Given the description of an element on the screen output the (x, y) to click on. 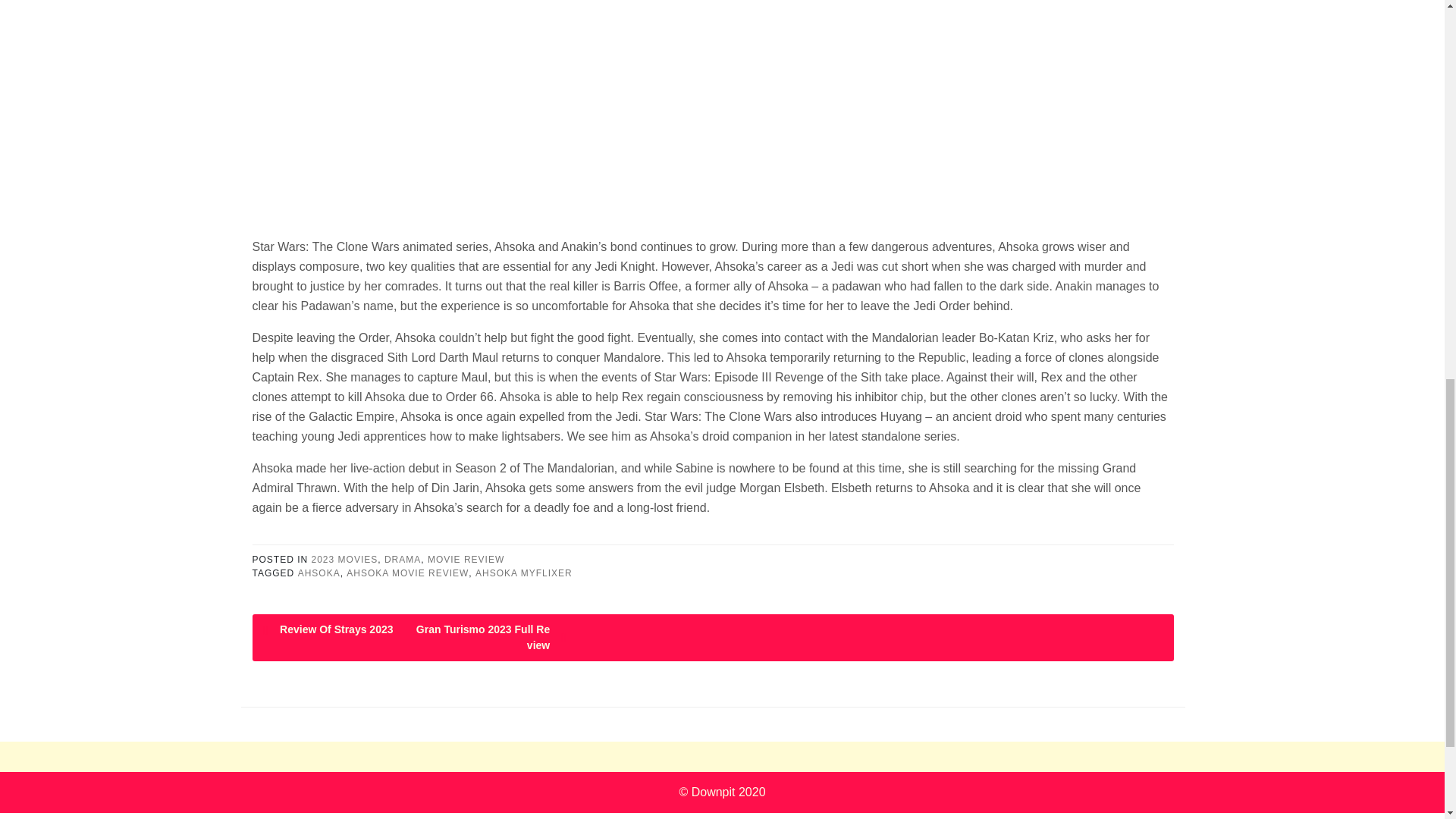
AHSOKA (319, 573)
Gran Turismo 2023 Full Review (490, 637)
2023 MOVIES (344, 559)
MOVIE REVIEW (465, 559)
DRAMA (402, 559)
AHSOKA MYFLIXER (524, 573)
AHSOKA MOVIE REVIEW (407, 573)
Review Of Strays 2023 (338, 629)
